Given the description of an element on the screen output the (x, y) to click on. 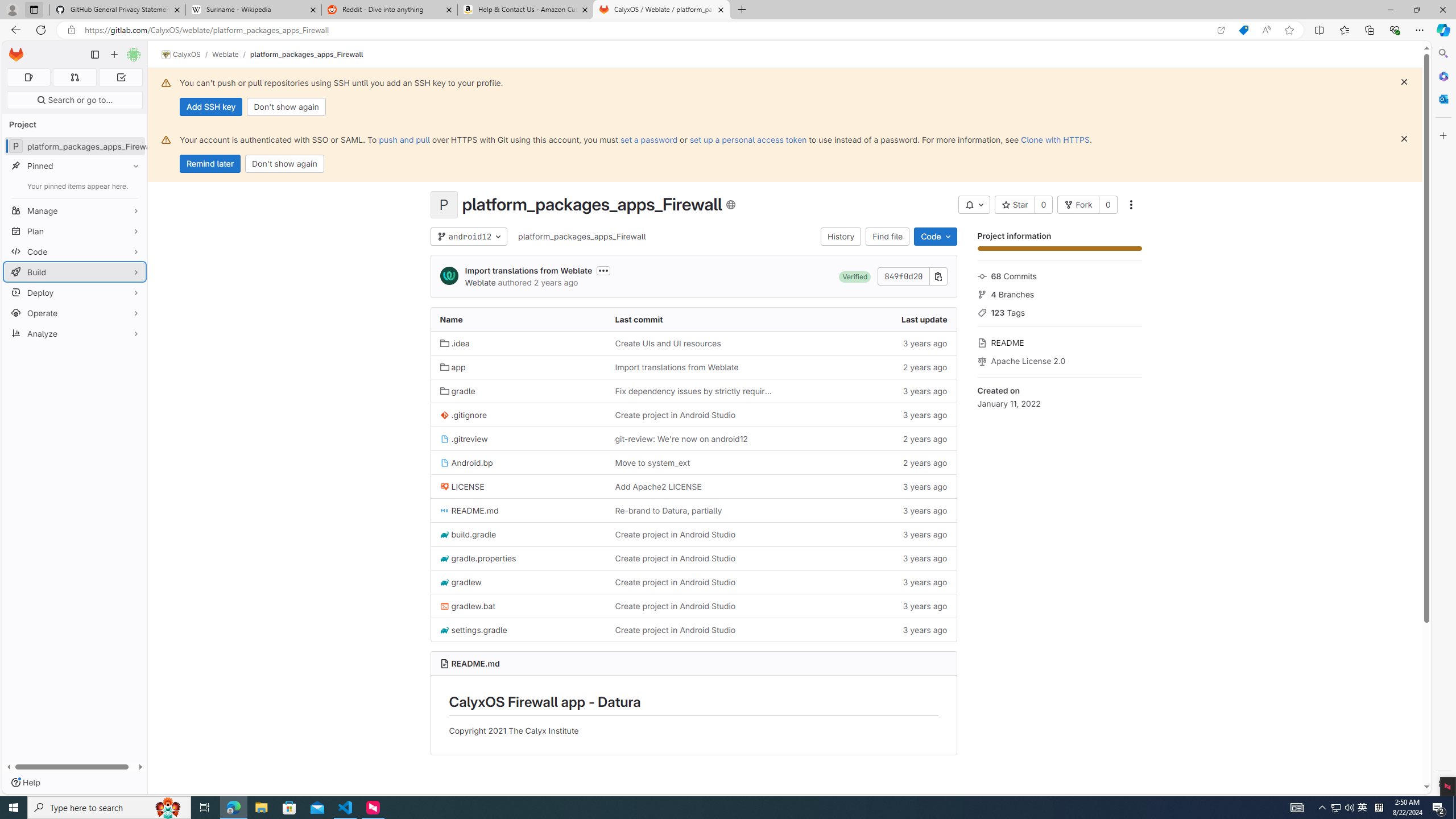
123 Tags (1058, 311)
Create project in Android Studio (674, 629)
.idea (517, 342)
 Star (1014, 204)
gradlew.bat (467, 605)
Android.bp (517, 462)
Re-brand to Datura, partially (693, 509)
Code (935, 236)
push and pull (403, 139)
Open in app (1220, 29)
Class: s16 icon (730, 204)
Android.bp (466, 462)
